Given the description of an element on the screen output the (x, y) to click on. 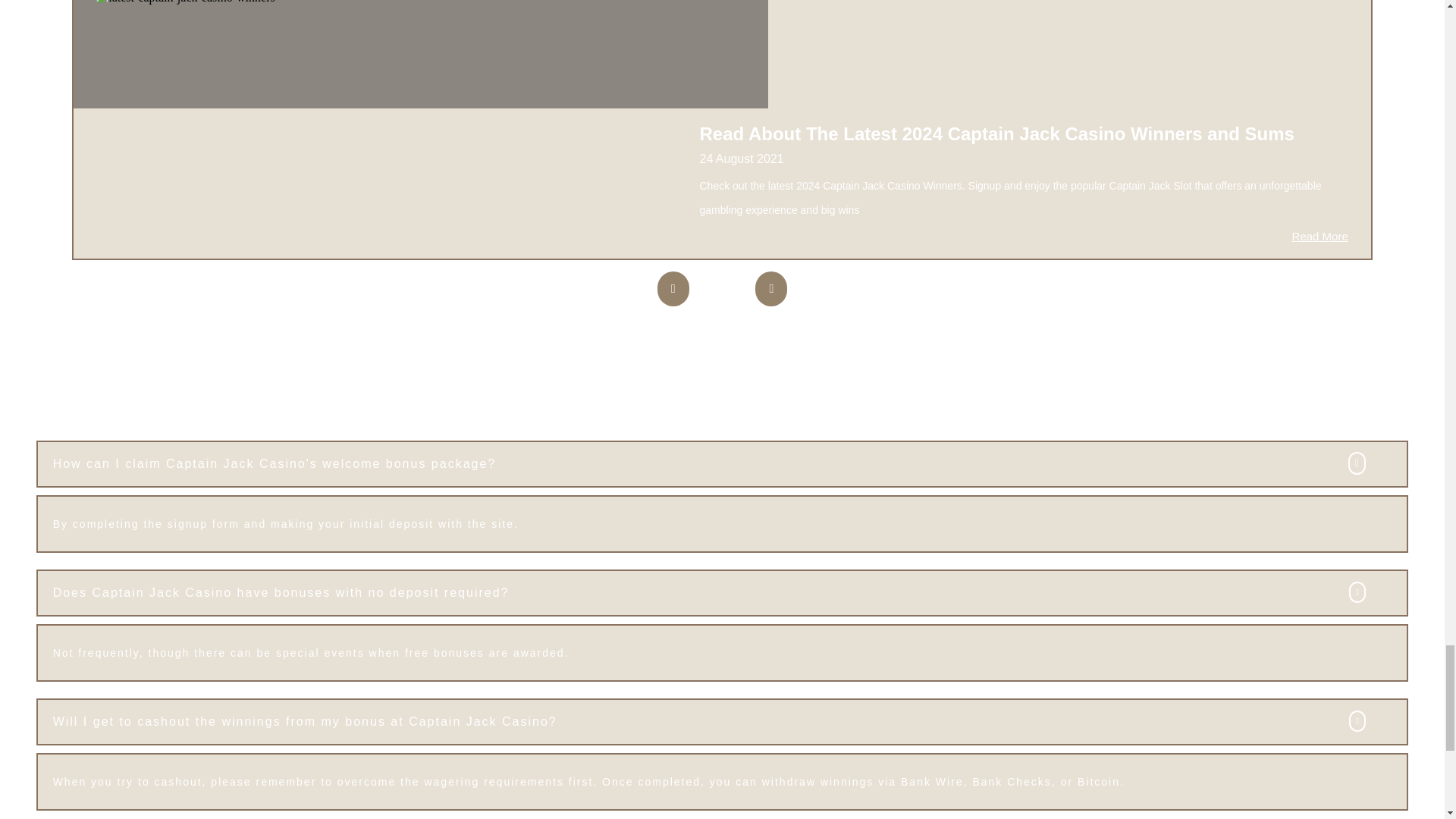
Read More (1320, 236)
How can I claim Captain Jack Casino's welcome bonus package? (722, 463)
